Given the description of an element on the screen output the (x, y) to click on. 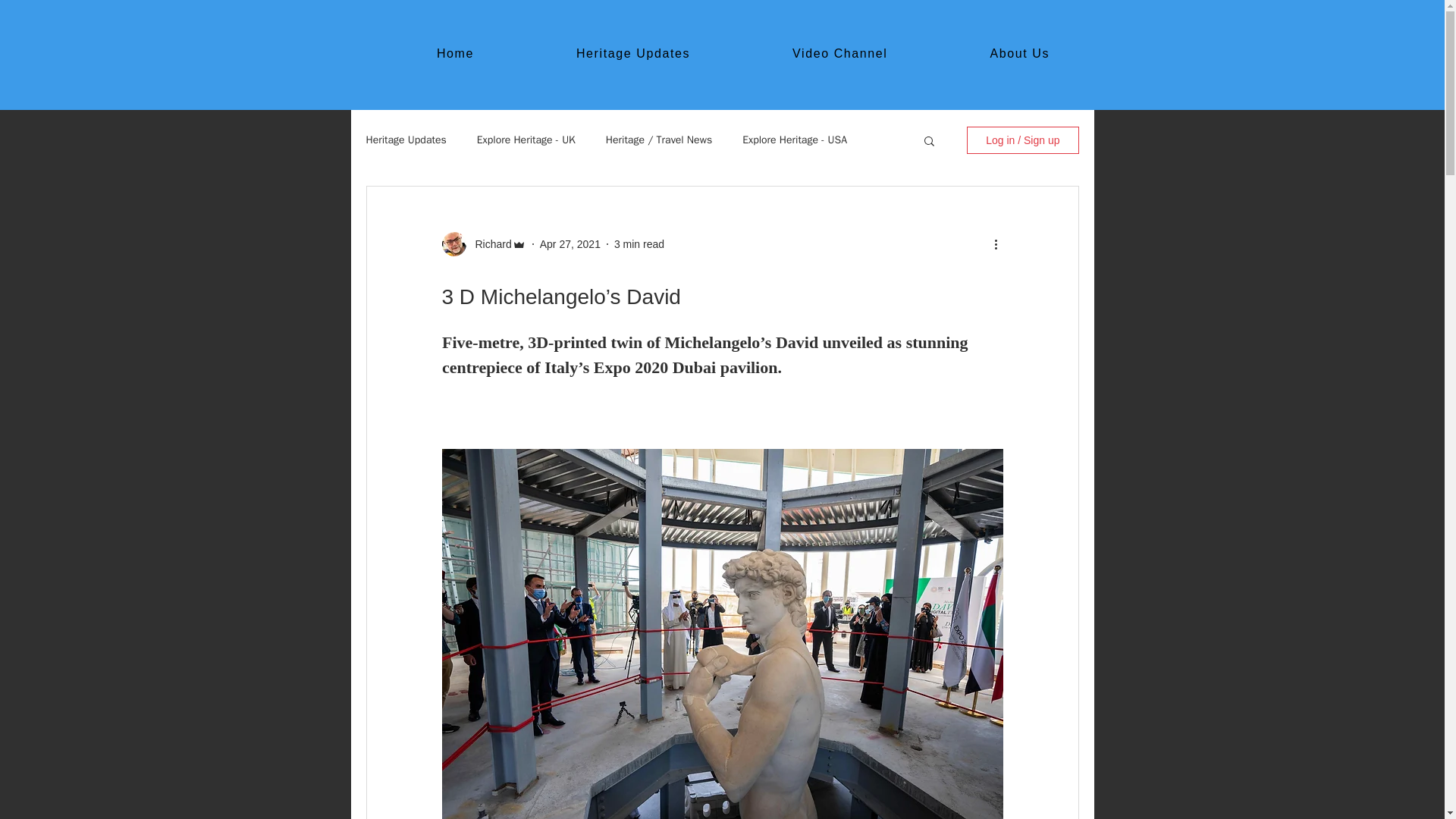
Richard (488, 244)
3 min read (638, 244)
About Us (1019, 53)
Explore Heritage - UK (526, 140)
Home (454, 53)
Explore Heritage - USA (742, 53)
Video Channel (794, 140)
Heritage Updates (840, 53)
Apr 27, 2021 (633, 53)
Heritage Updates (569, 244)
